Given the description of an element on the screen output the (x, y) to click on. 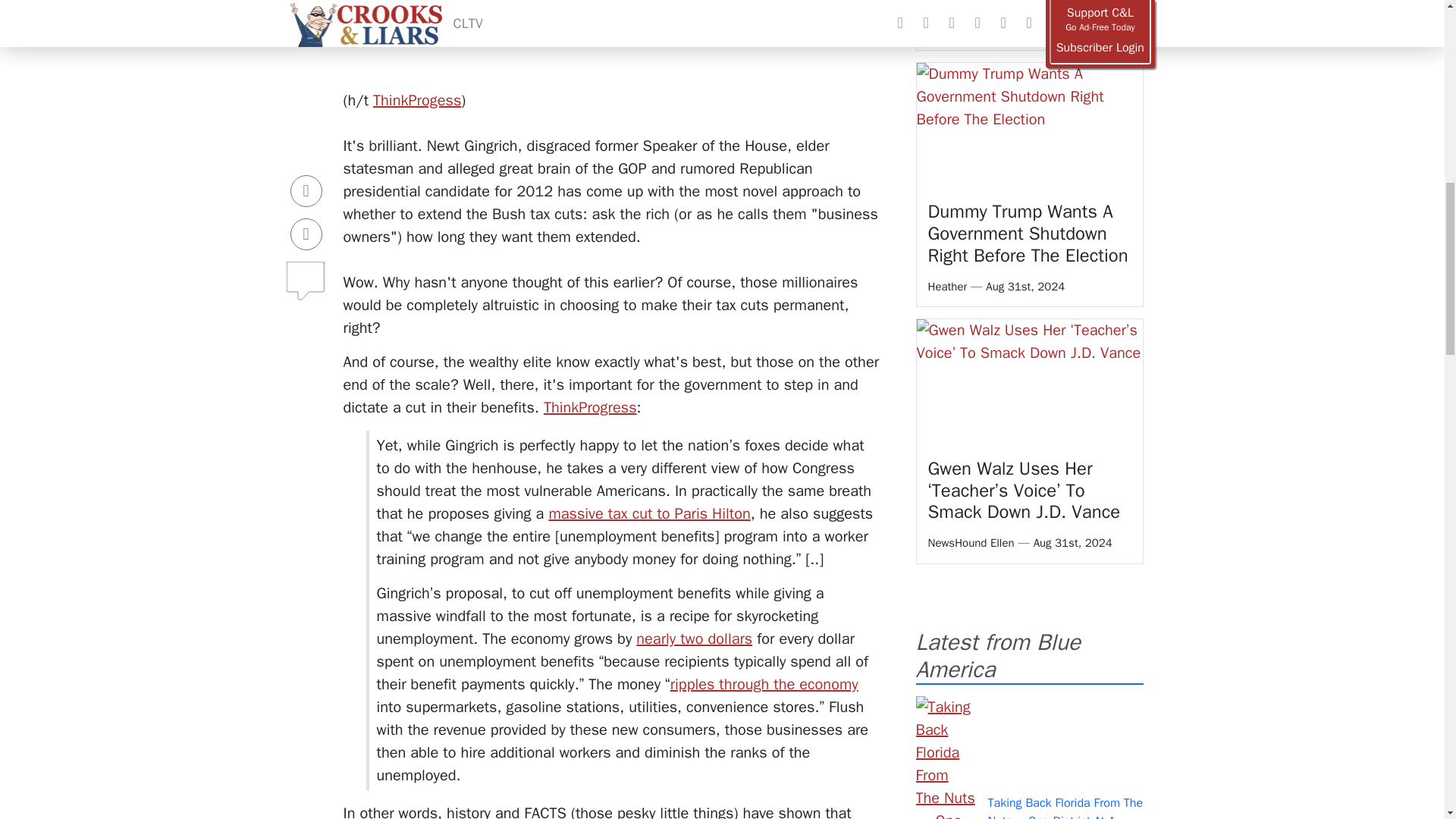
nearly two dollars (694, 638)
ThinkProgress (590, 407)
ThinkProgess (416, 99)
ripples through the economy (764, 683)
massive tax cut to Paris Hilton (648, 513)
